Given the description of an element on the screen output the (x, y) to click on. 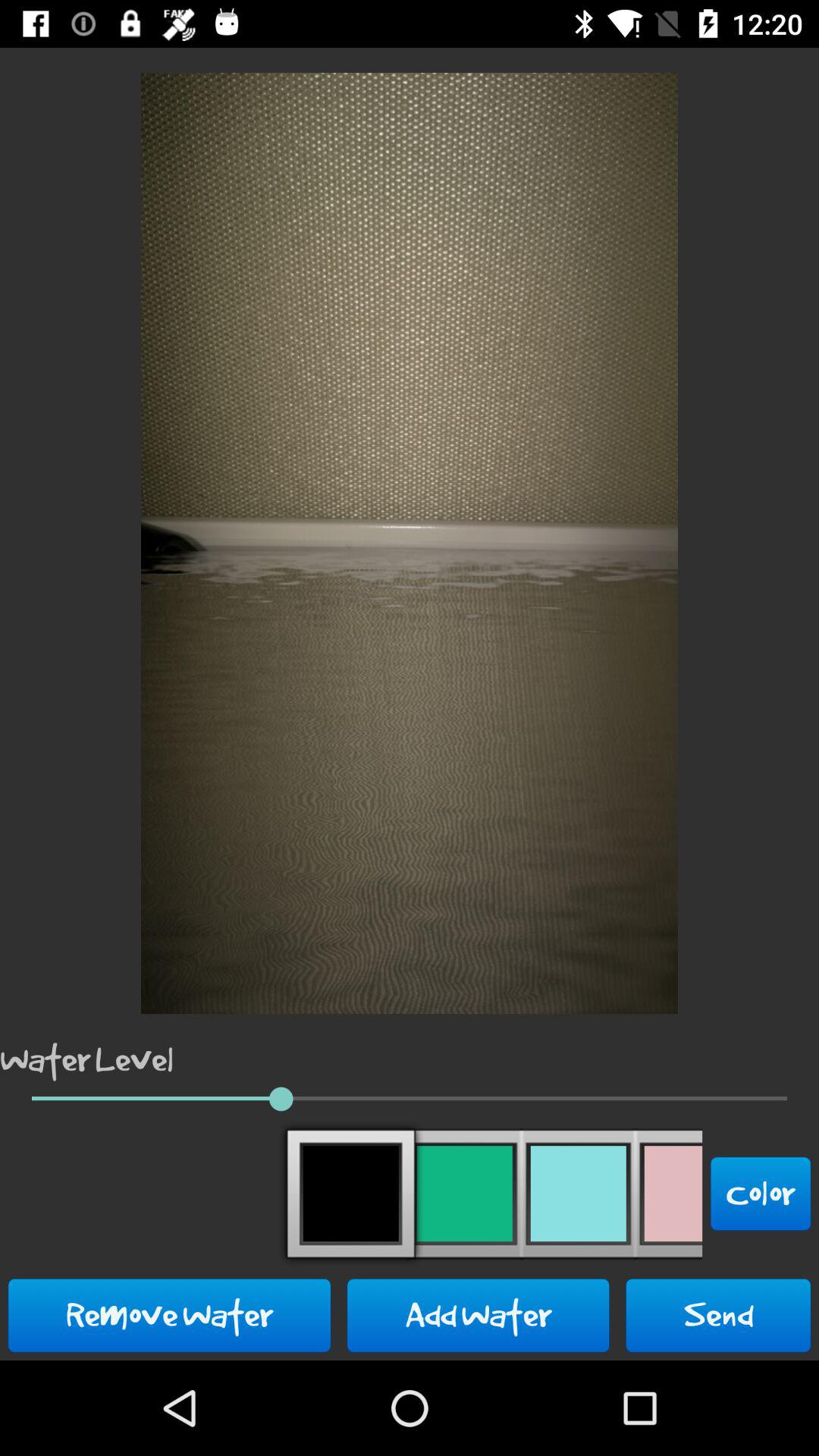
launch the color button (760, 1193)
